Given the description of an element on the screen output the (x, y) to click on. 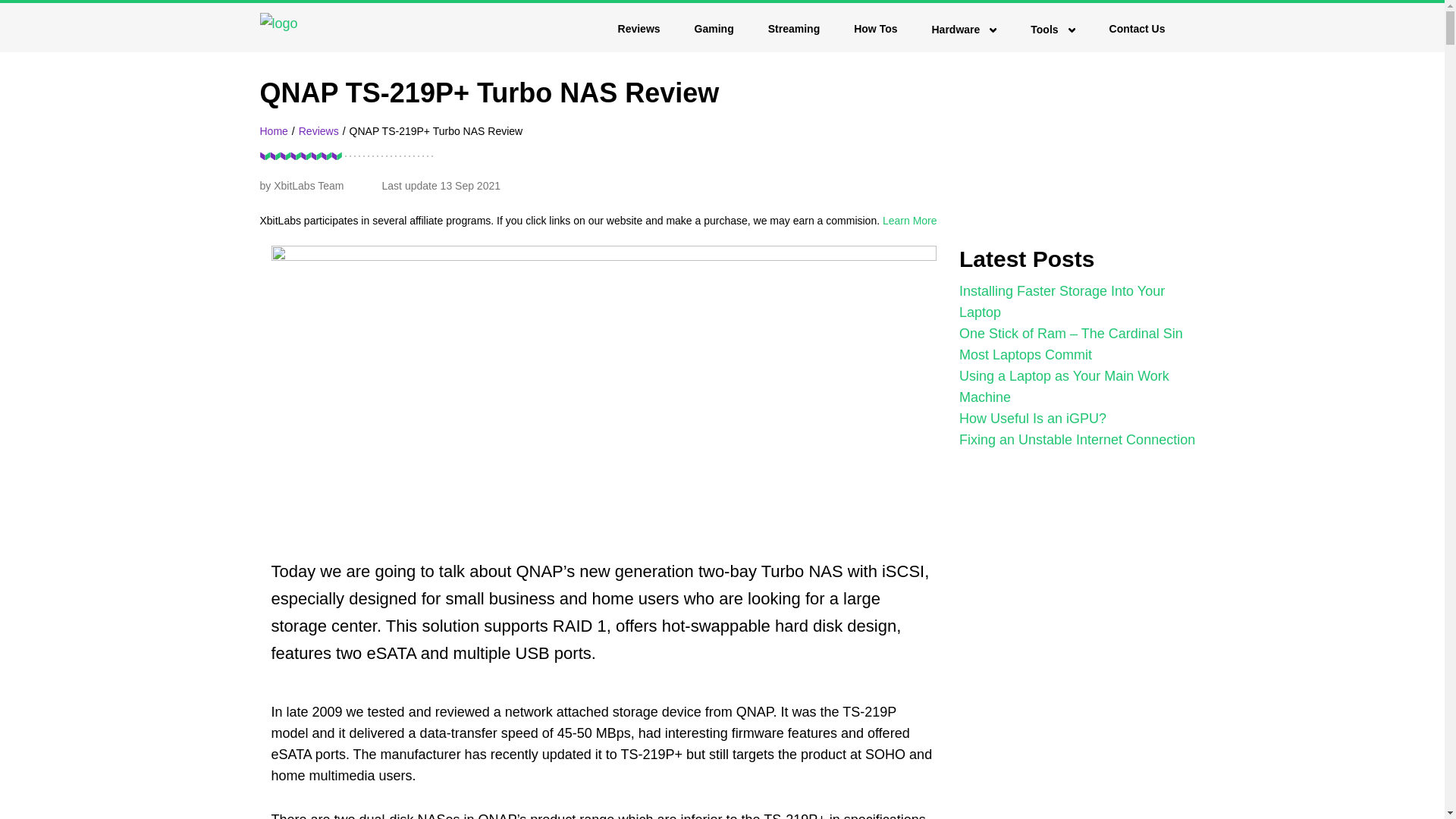
Home (272, 131)
Hardware (963, 29)
How Tos (874, 28)
Reviews (639, 28)
Contact Us (1137, 28)
Installing Faster Storage Into Your Laptop (1061, 301)
Tools (1052, 29)
Gaming (713, 28)
Learn More (909, 220)
Streaming (793, 28)
